Given the description of an element on the screen output the (x, y) to click on. 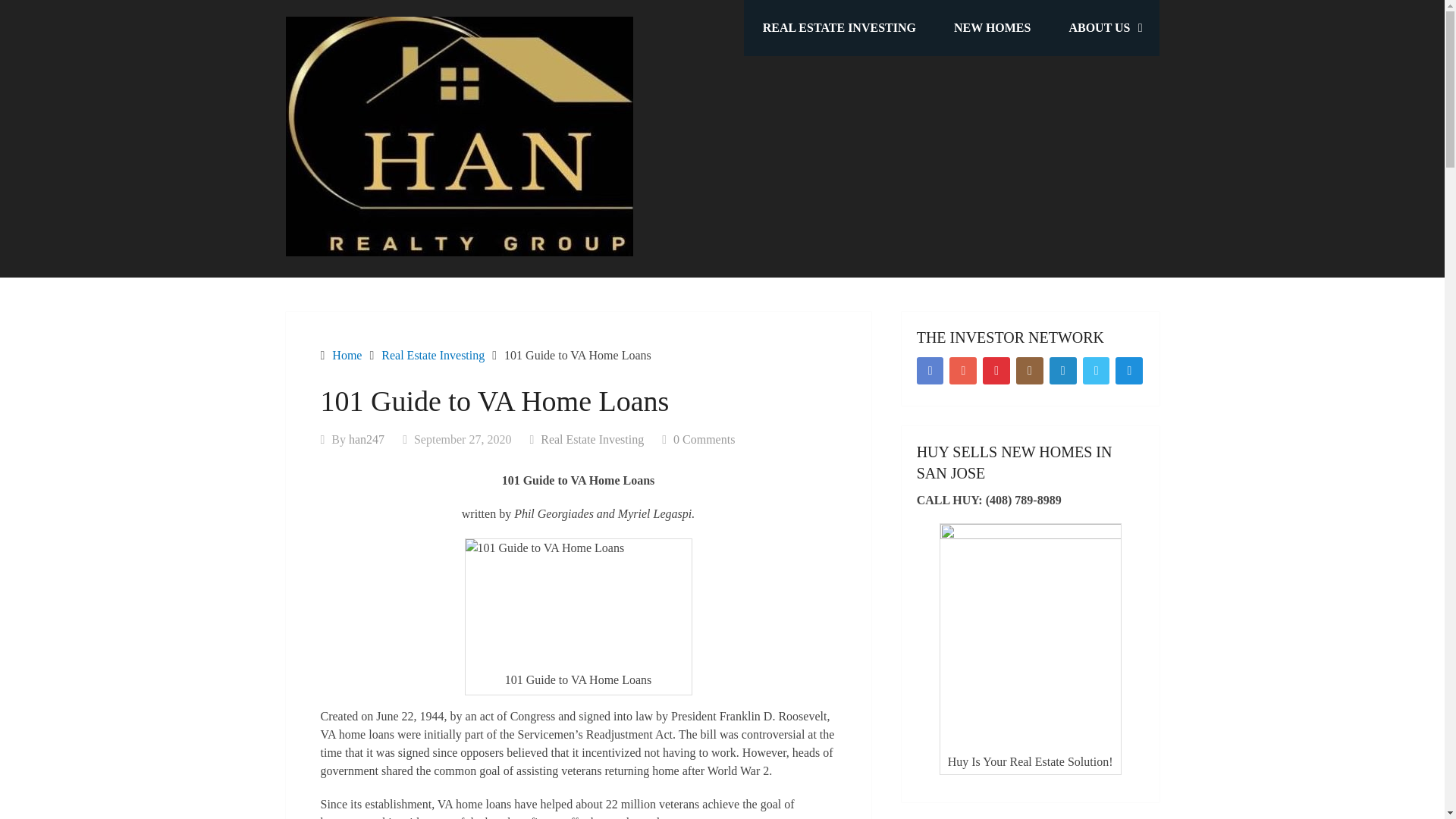
Twitter (1096, 370)
Real Estate Investing (591, 439)
Facebook (930, 370)
REAL ESTATE INVESTING (839, 28)
han247 (366, 439)
NEW HOMES (991, 28)
Real Estate Investing (432, 354)
ABOUT US (1103, 28)
LinkedIn (1063, 370)
Instagram (1029, 370)
